Given the description of an element on the screen output the (x, y) to click on. 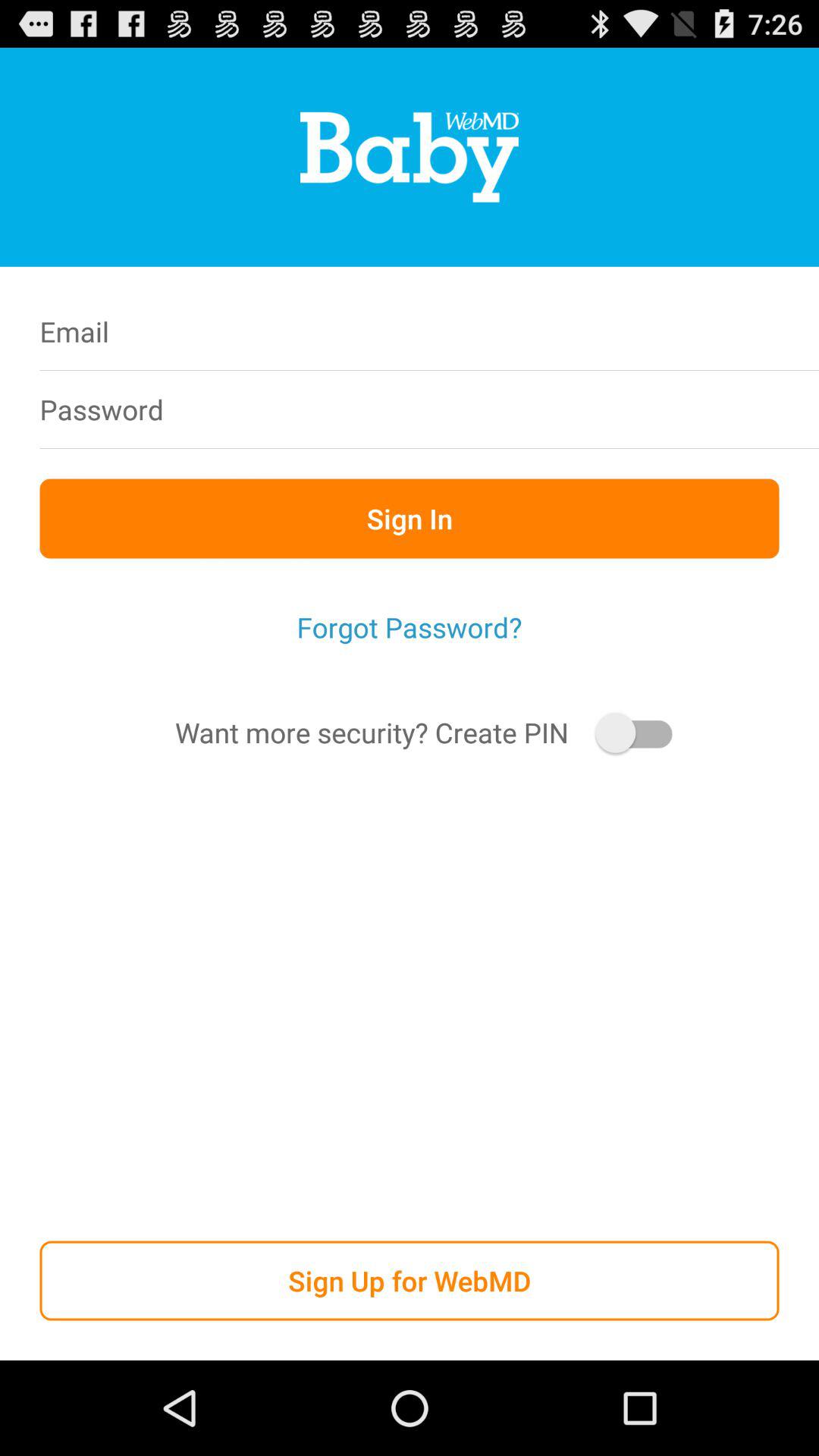
type email address here (507, 331)
